Given the description of an element on the screen output the (x, y) to click on. 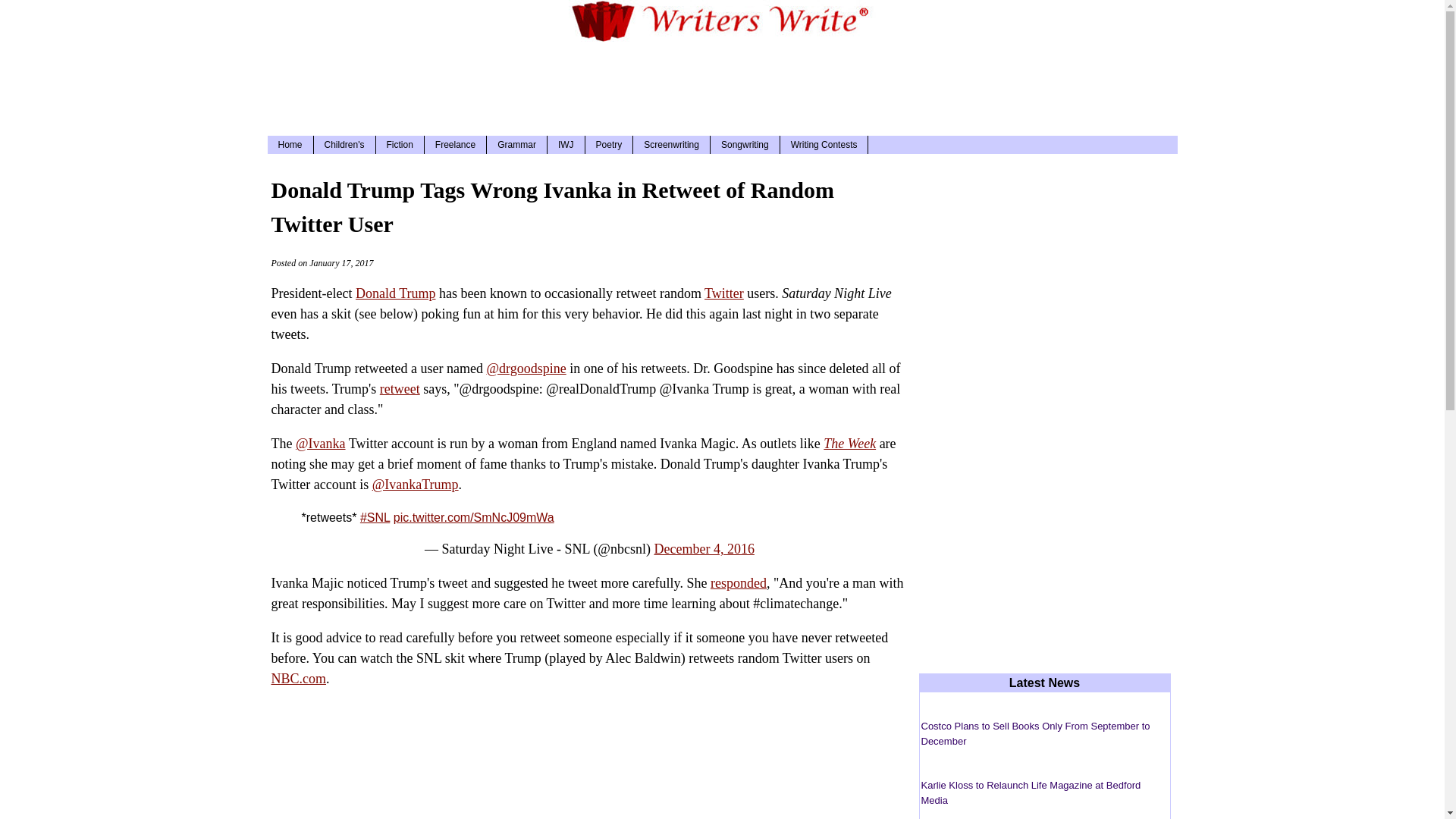
Advertisement (721, 86)
Home (289, 144)
Children's (344, 144)
Grammar (516, 144)
IWJ (566, 144)
Costco Plans to Sell Books Only From September to December (1035, 733)
responded (738, 582)
Donald Trump (395, 293)
Writing Contests (824, 144)
Advertisement (588, 778)
